Given the description of an element on the screen output the (x, y) to click on. 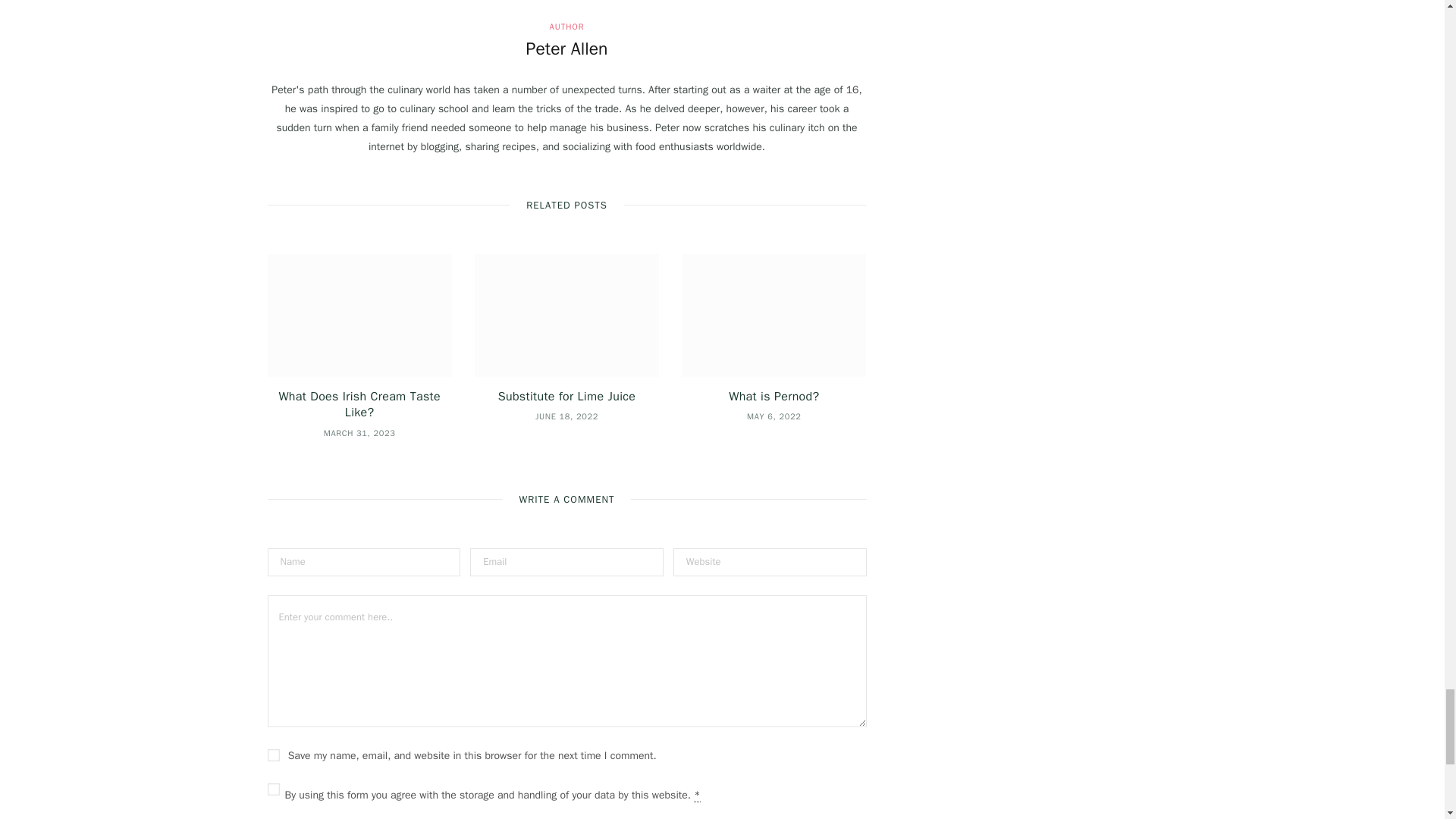
Posts by Peter Allen (566, 48)
1 (272, 788)
yes (272, 755)
